Given the description of an element on the screen output the (x, y) to click on. 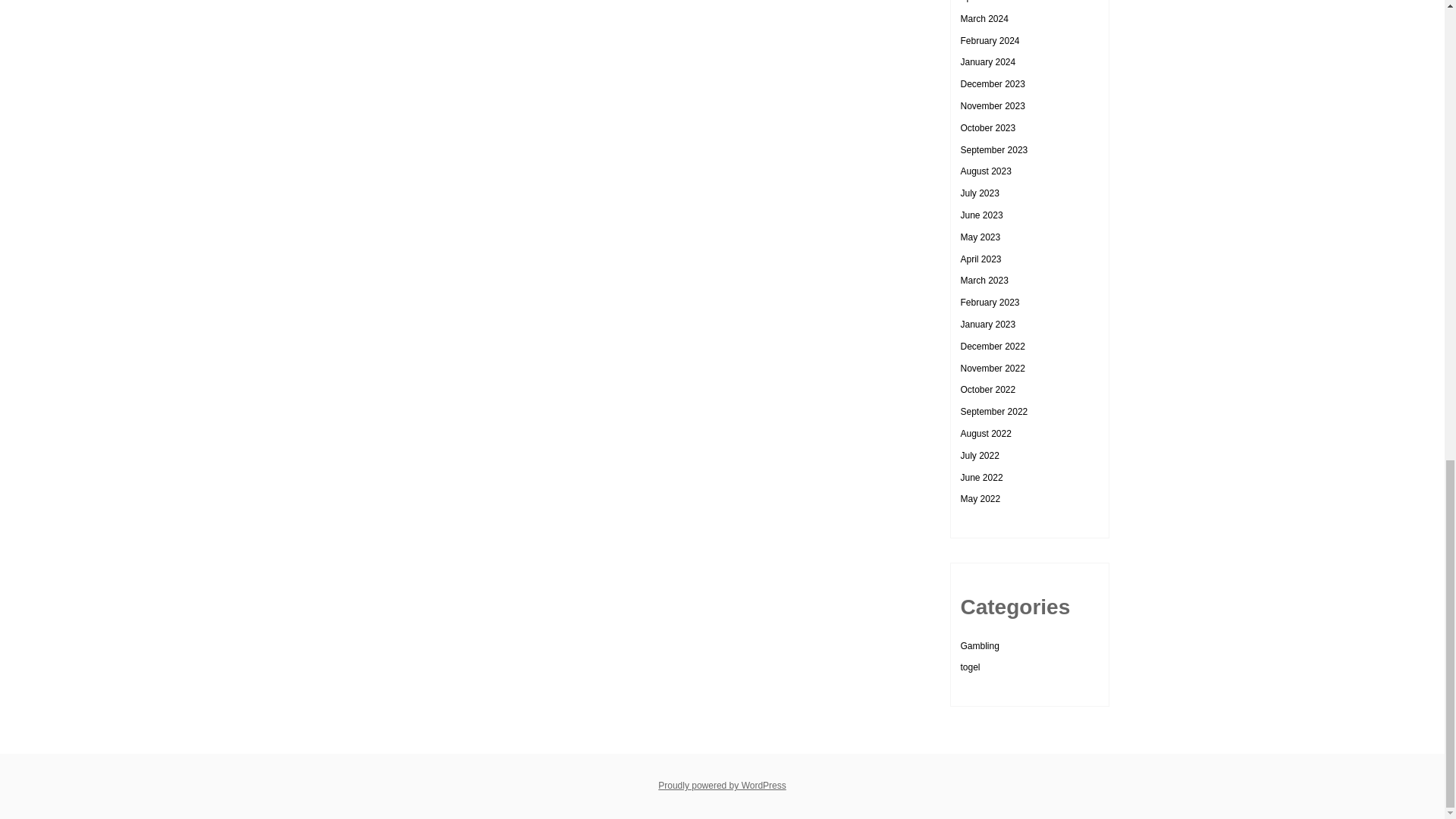
October 2023 (986, 127)
March 2023 (983, 280)
February 2024 (989, 40)
July 2023 (978, 193)
June 2023 (981, 214)
January 2024 (986, 61)
May 2023 (979, 236)
April 2024 (980, 1)
April 2023 (980, 258)
January 2023 (986, 324)
February 2023 (989, 302)
September 2023 (993, 149)
December 2023 (992, 83)
December 2022 (992, 346)
